Given the description of an element on the screen output the (x, y) to click on. 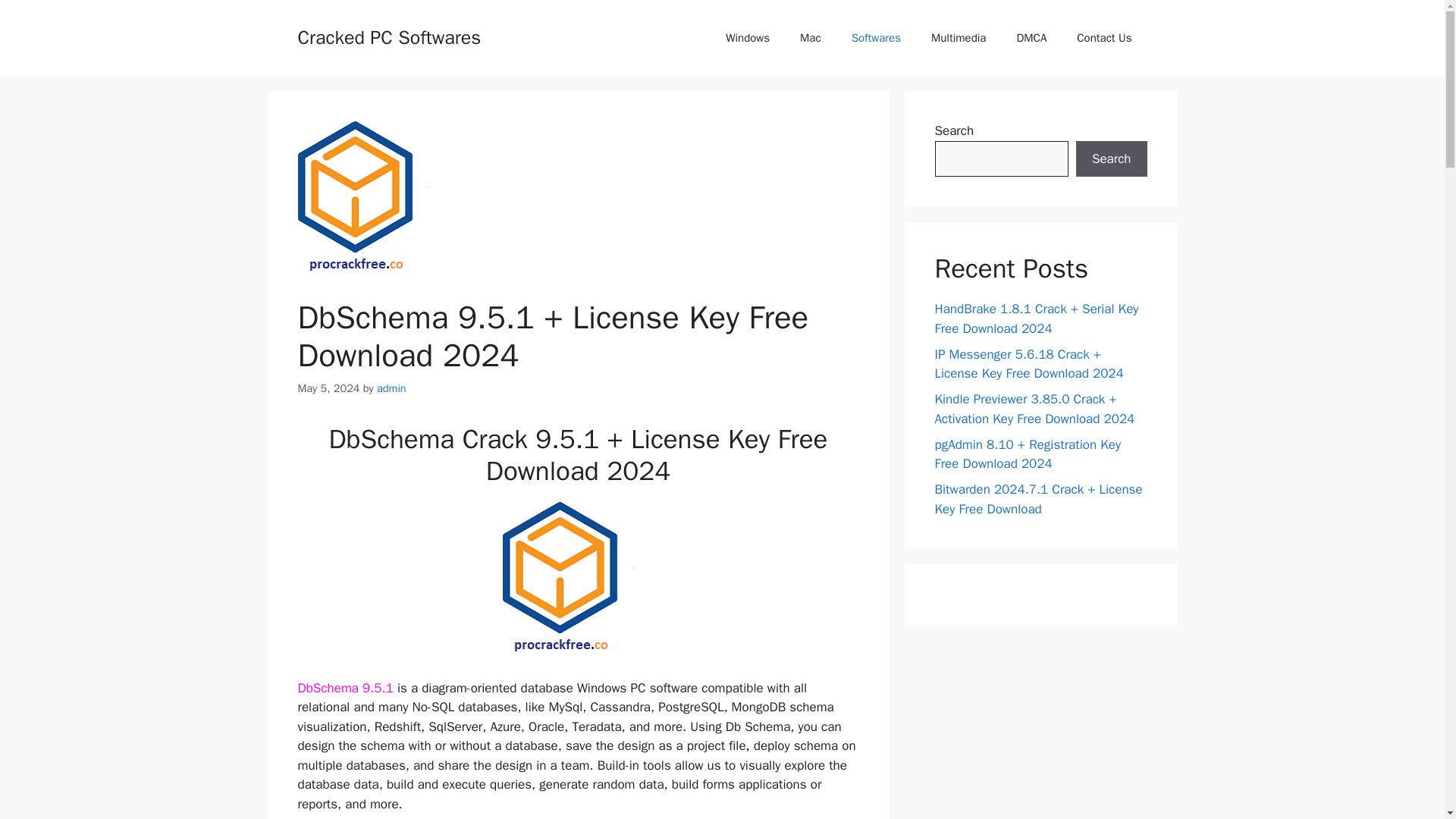
Cracked PC Softwares (388, 37)
Multimedia (958, 37)
Search (1111, 158)
Windows (747, 37)
Contact Us (1104, 37)
View all posts by admin (391, 387)
Mac (809, 37)
DbSchema 9.5.1 (346, 688)
admin (391, 387)
Softwares (875, 37)
DMCA (1031, 37)
